Given the description of an element on the screen output the (x, y) to click on. 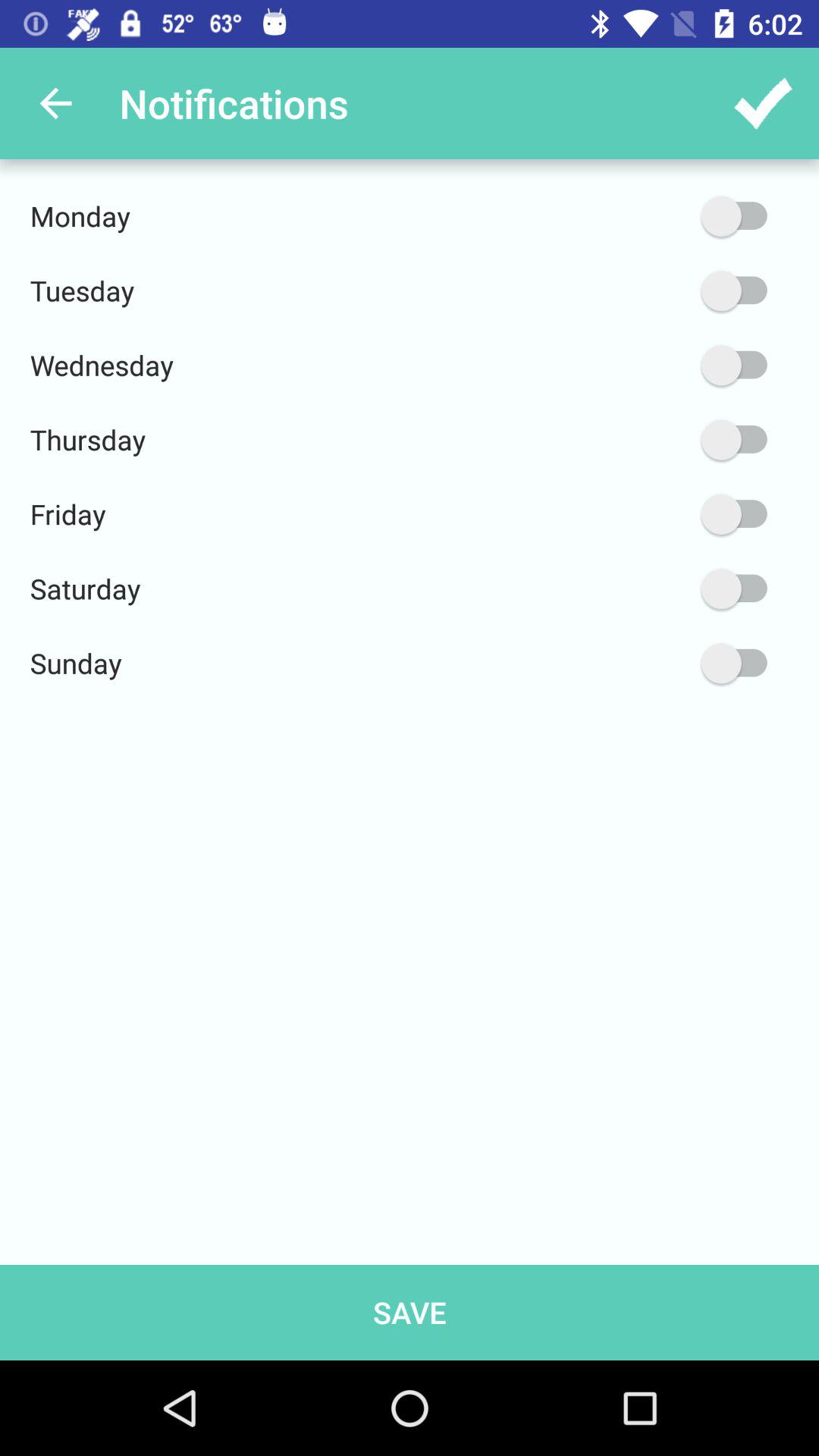
turn off the icon to the left of notifications app (55, 103)
